Given the description of an element on the screen output the (x, y) to click on. 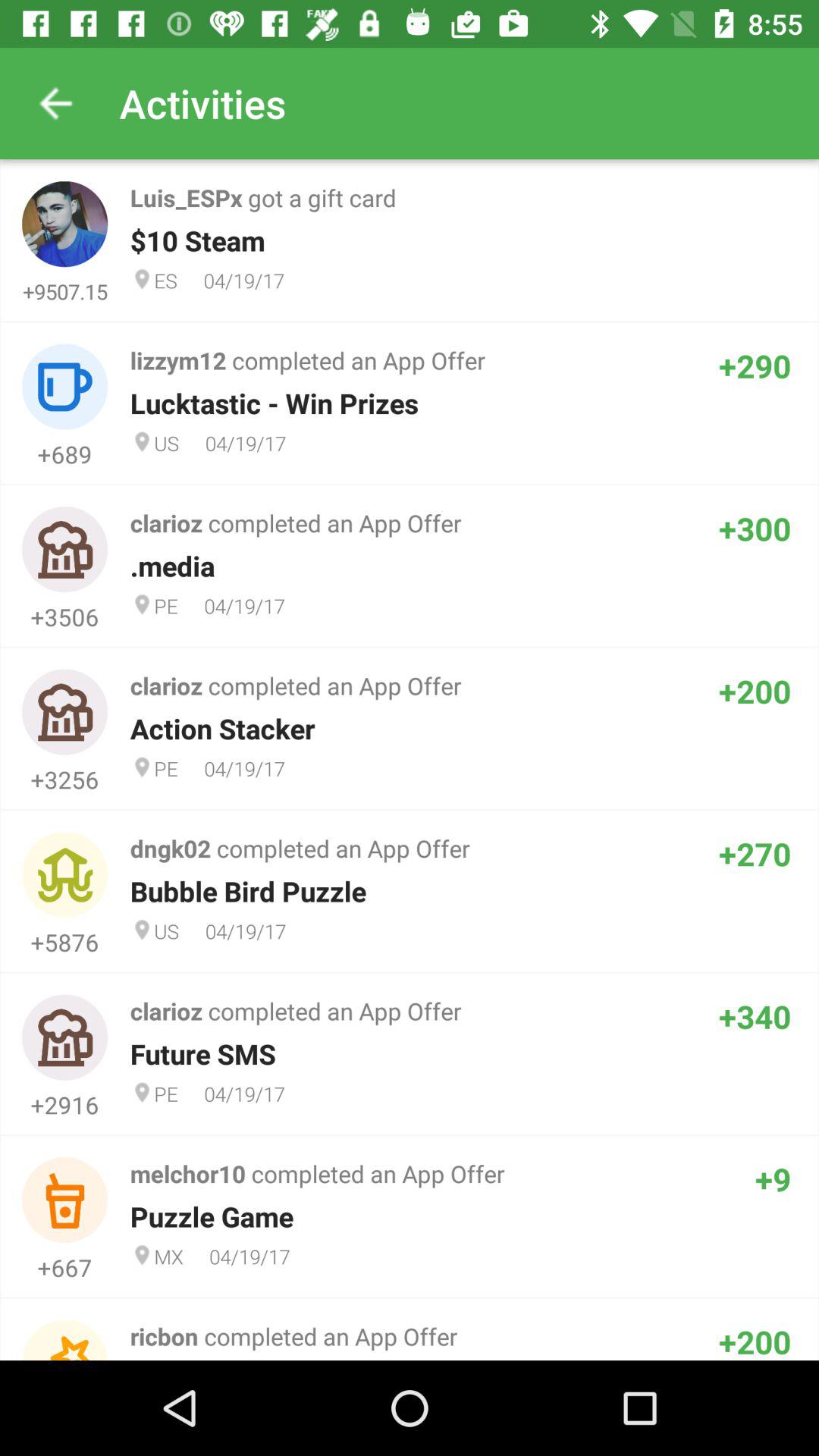
turn on app to the left of activities app (55, 103)
